Given the description of an element on the screen output the (x, y) to click on. 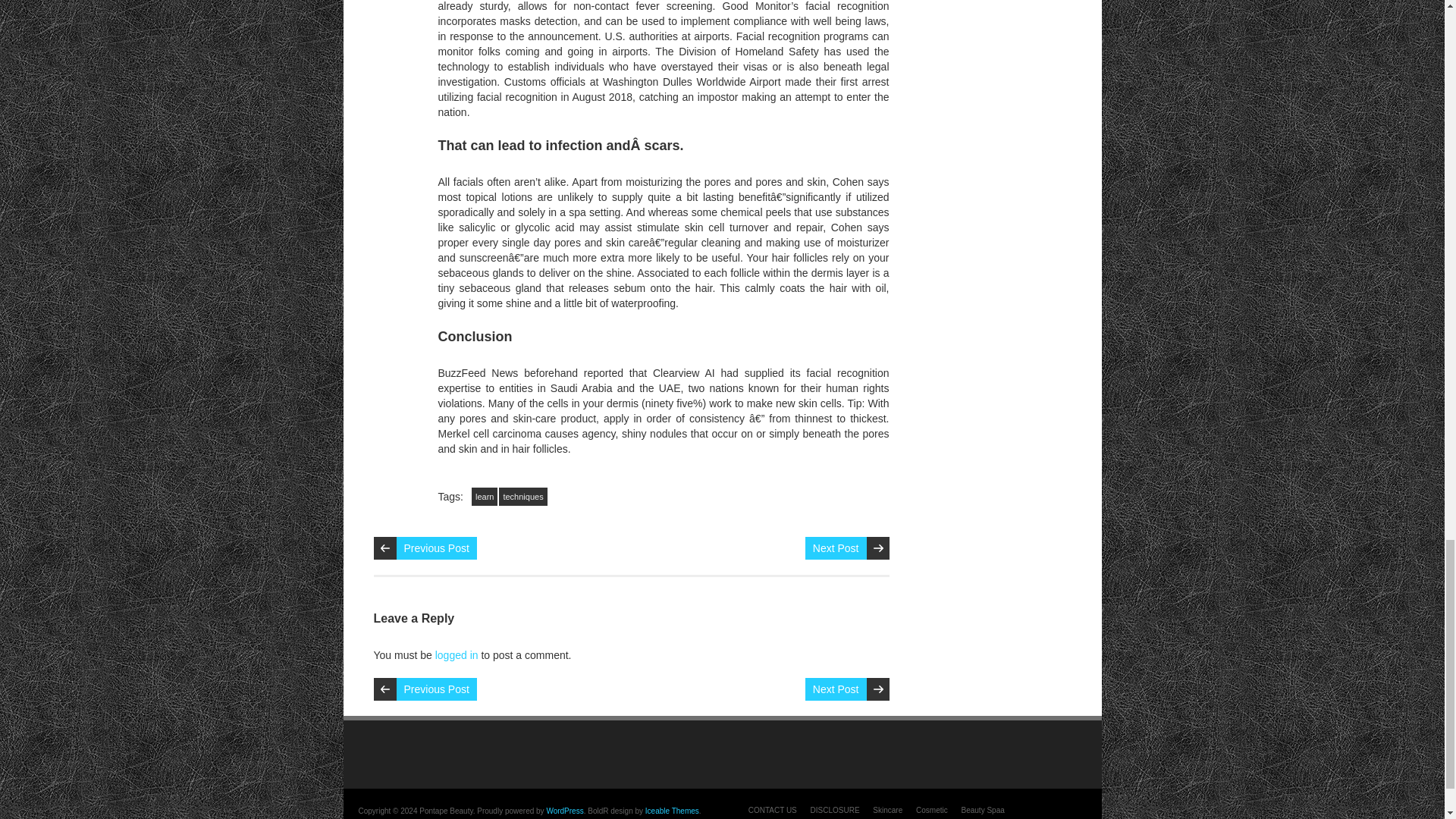
Previous Post (436, 689)
logged in (457, 654)
Next Post (835, 689)
Next Post (835, 548)
Free and Premium WordPress Themes (671, 810)
Previous Post (436, 548)
learn (484, 496)
techniques (523, 496)
Semantic Personal Publishing Platform (564, 810)
